Given the description of an element on the screen output the (x, y) to click on. 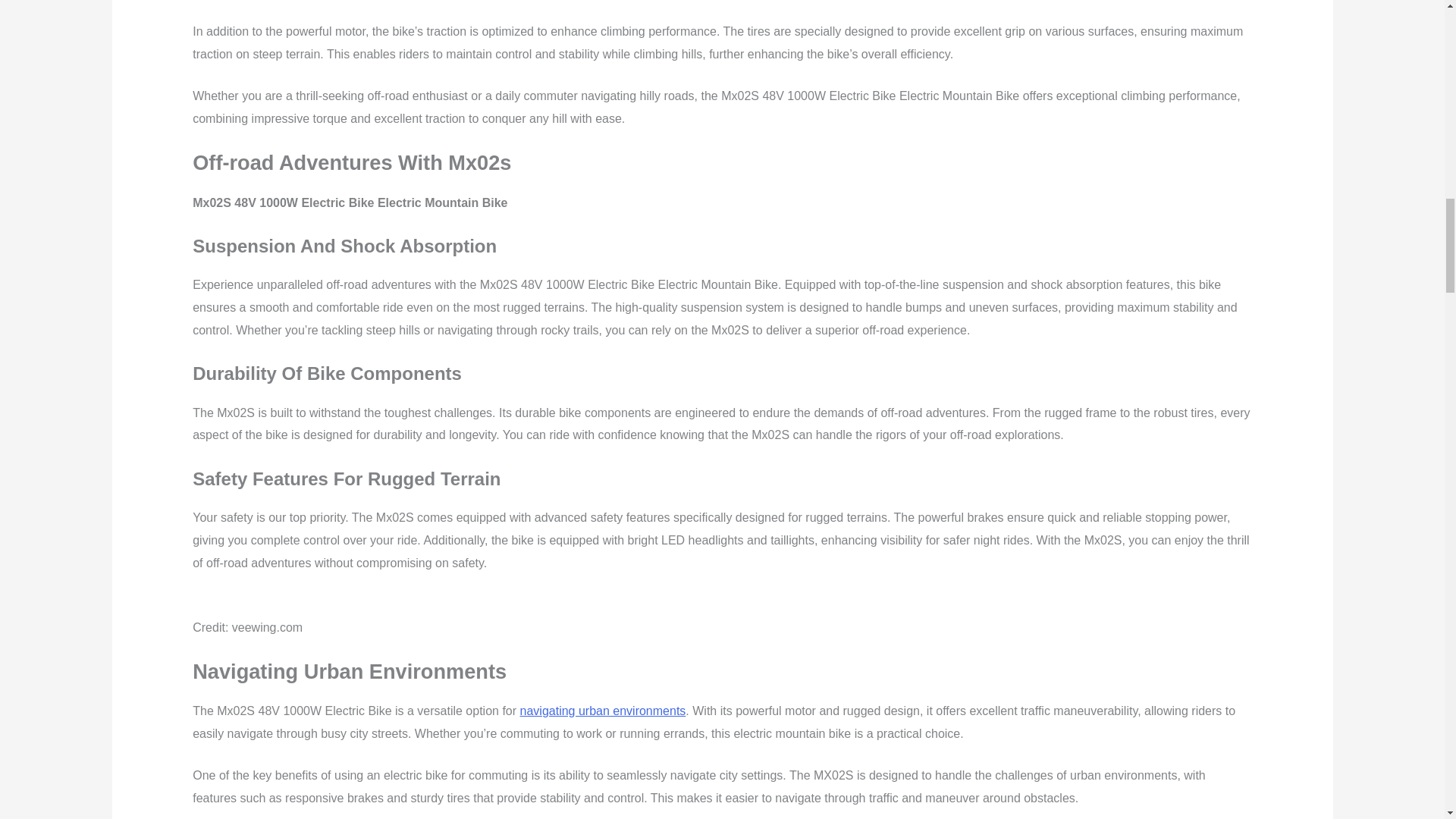
navigating urban environments (602, 710)
